Given the description of an element on the screen output the (x, y) to click on. 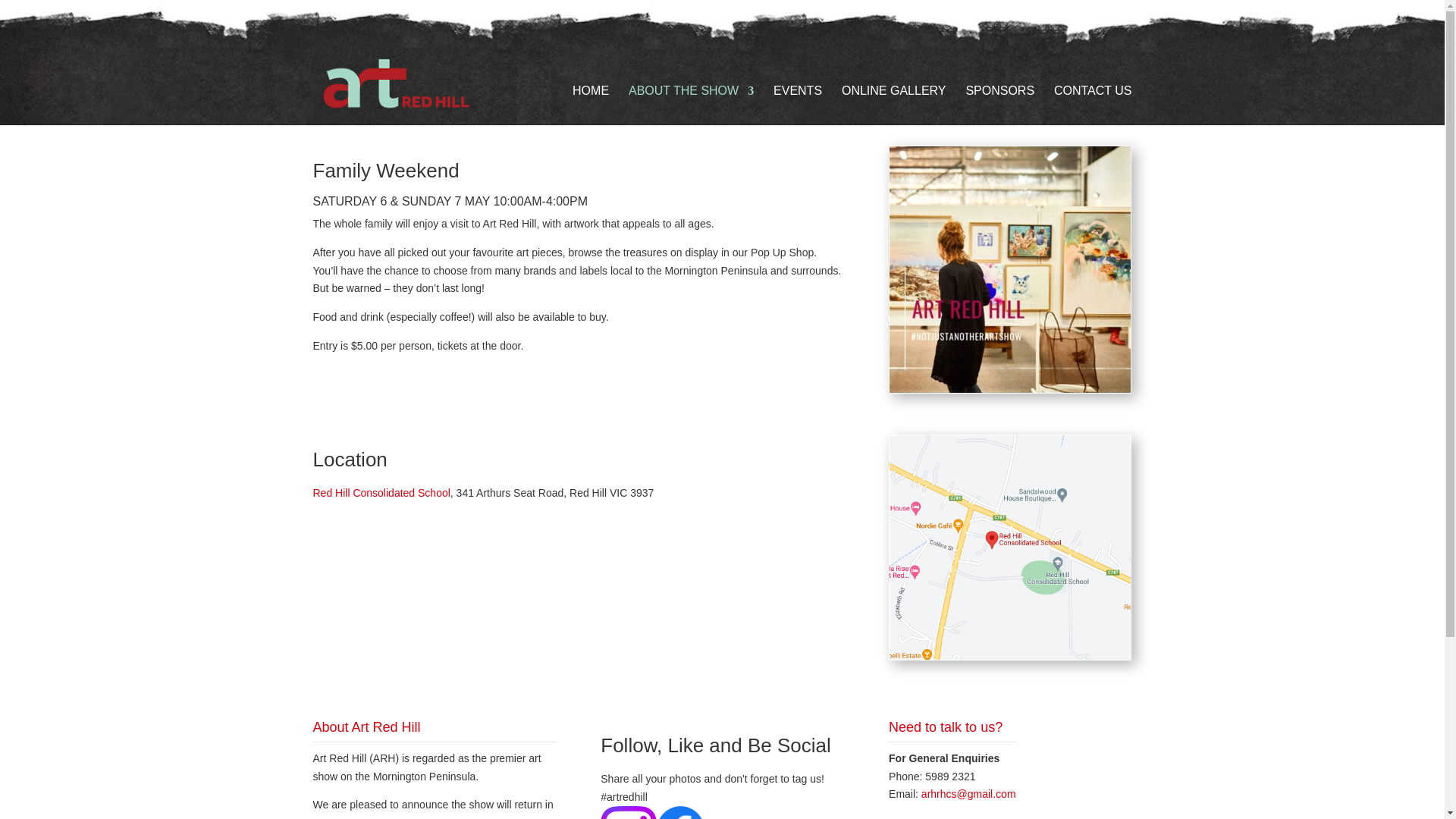
CONTACT US (1093, 100)
Instagram pic 2 2023 (1010, 269)
Map of School (1010, 547)
HOME (590, 100)
Red Hill Consolidated School (381, 492)
EVENTS (797, 100)
SPONSORS (999, 100)
ONLINE GALLERY (893, 100)
ABOUT THE SHOW (691, 100)
